Given the description of an element on the screen output the (x, y) to click on. 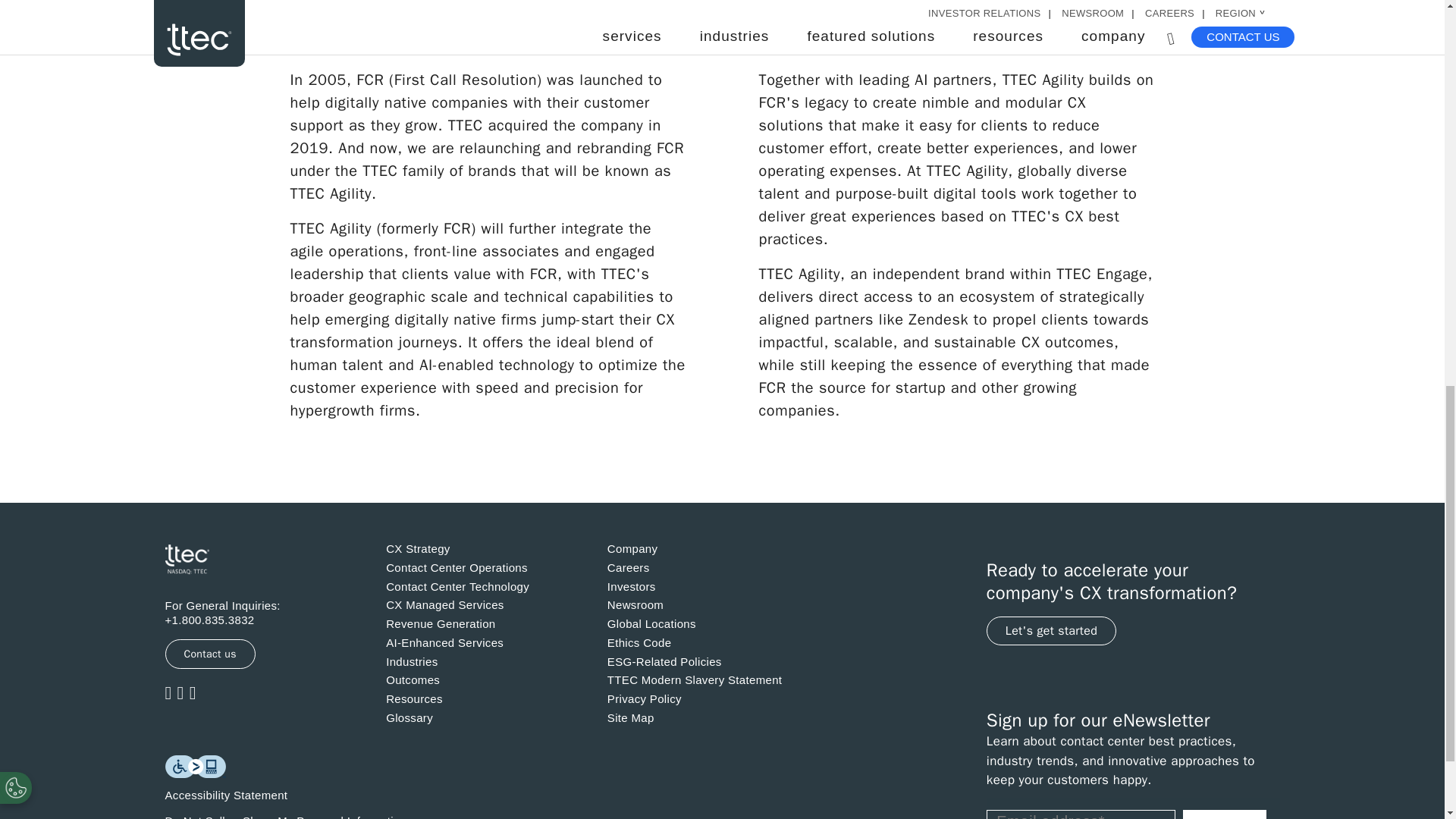
Sign up for our eNewsletter (1133, 808)
